Given the description of an element on the screen output the (x, y) to click on. 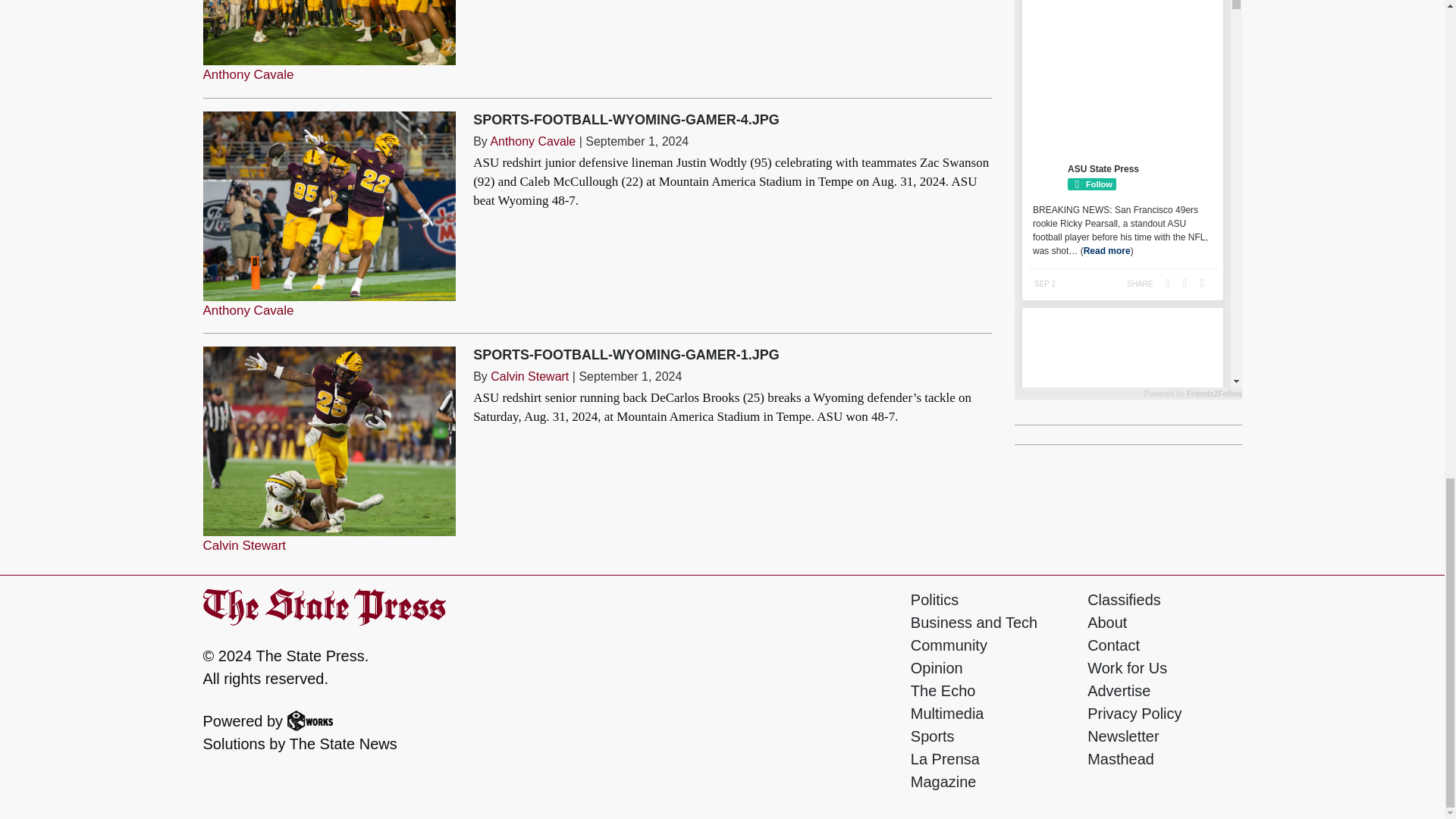
Anthony Cavale (532, 141)
SPORTS-FOOTBALL-WYOMING-GAMER-4.JPG (625, 119)
Anthony Cavale (248, 310)
Calvin Stewart (529, 376)
SPORTS-FOOTBALL-WYOMING-GAMER-1.JPG (625, 354)
Calvin Stewart (244, 545)
Anthony Cavale (248, 74)
